Given the description of an element on the screen output the (x, y) to click on. 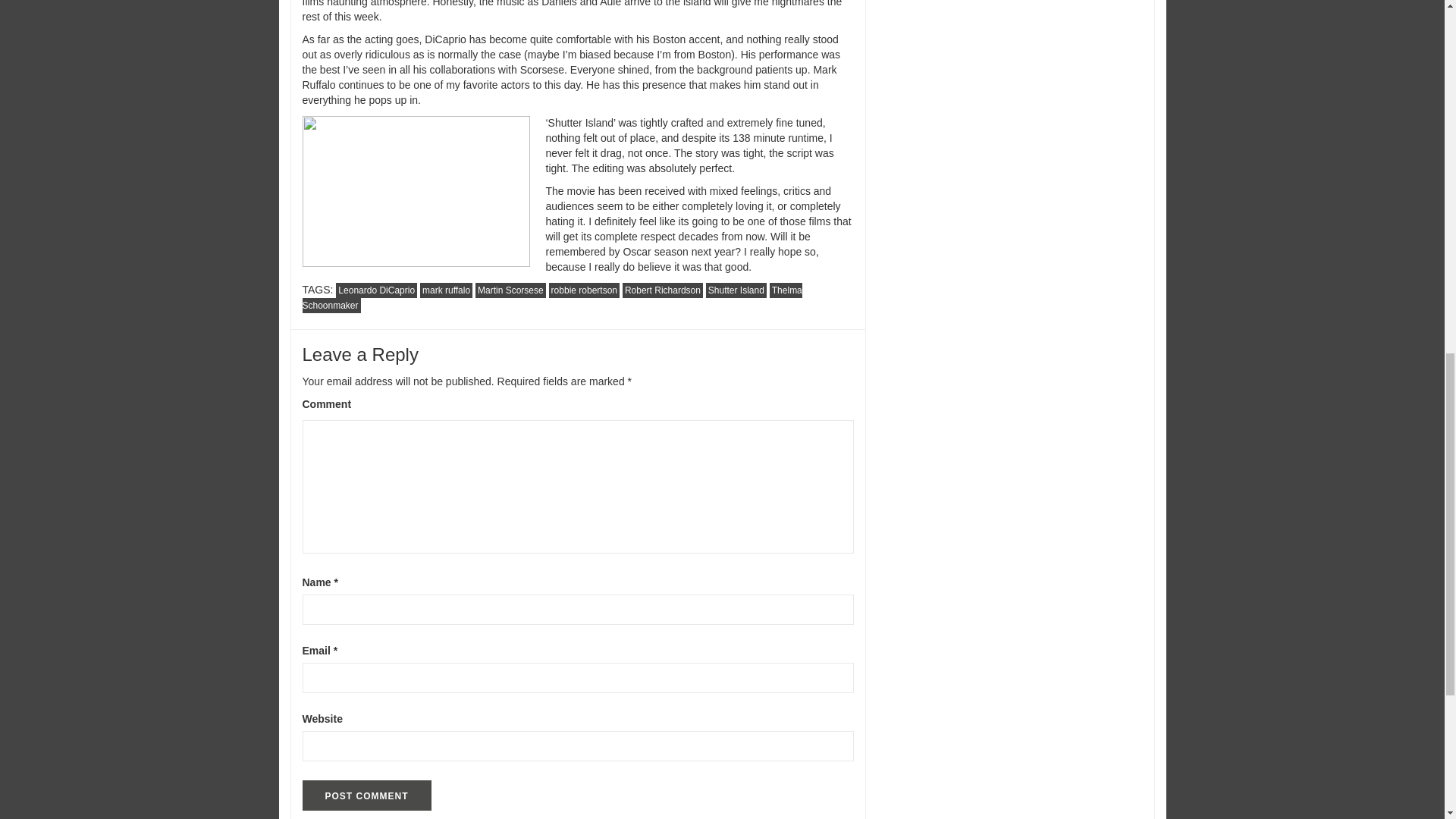
Post Comment (365, 795)
Martin Scorsese (511, 290)
mark ruffalo (445, 290)
Post Comment (365, 795)
Thelma Schoonmaker (551, 297)
Leonardo DiCaprio (376, 290)
Robert Richardson (663, 290)
Shutter Island (736, 290)
robbie robertson (584, 290)
